Given the description of an element on the screen output the (x, y) to click on. 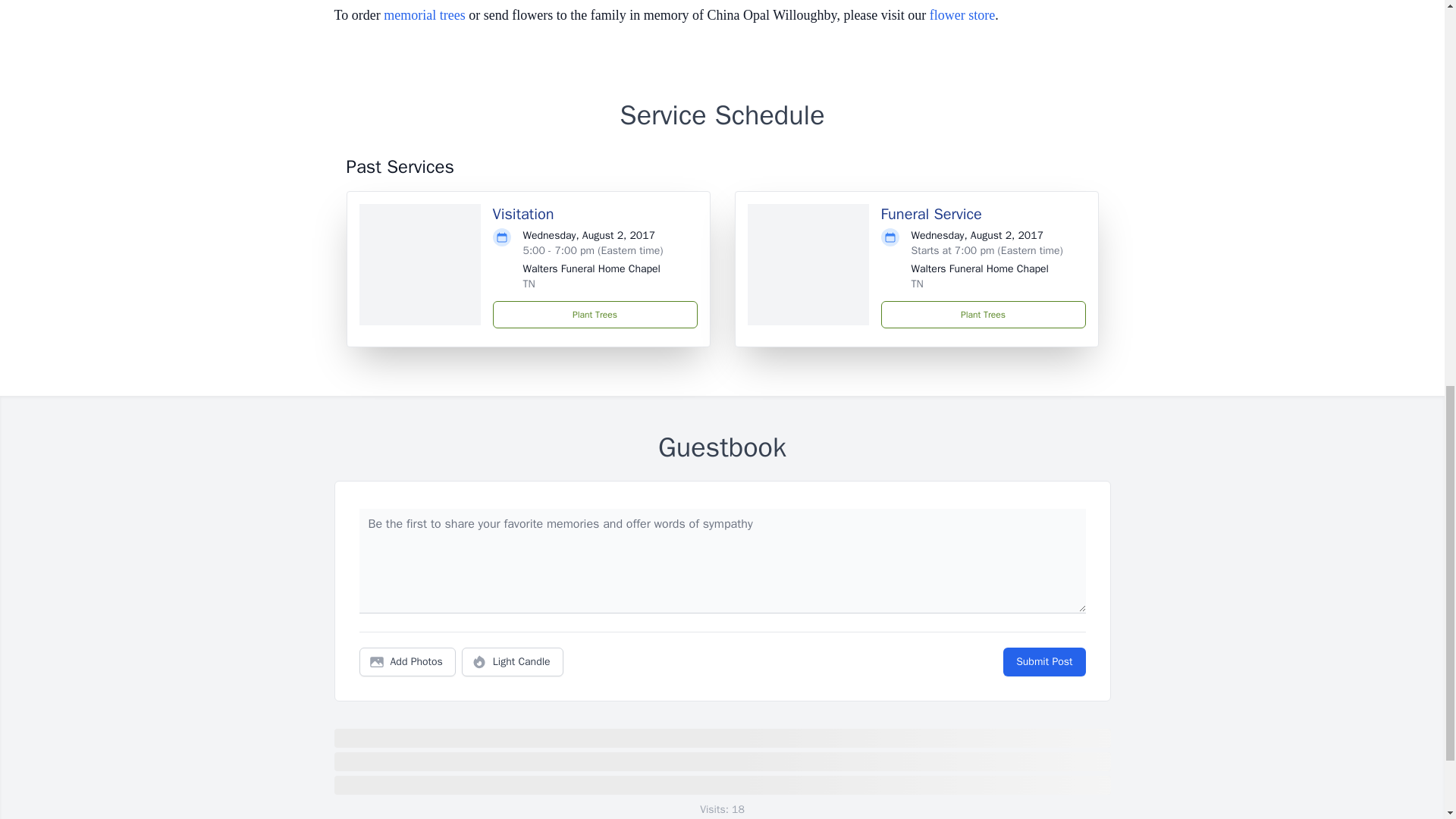
Submit Post (1043, 661)
Plant Trees (595, 314)
flower store (962, 14)
Light Candle (512, 661)
TN (917, 283)
memorial trees (424, 14)
Plant Trees (983, 314)
Add Photos (407, 661)
TN (528, 283)
